Given the description of an element on the screen output the (x, y) to click on. 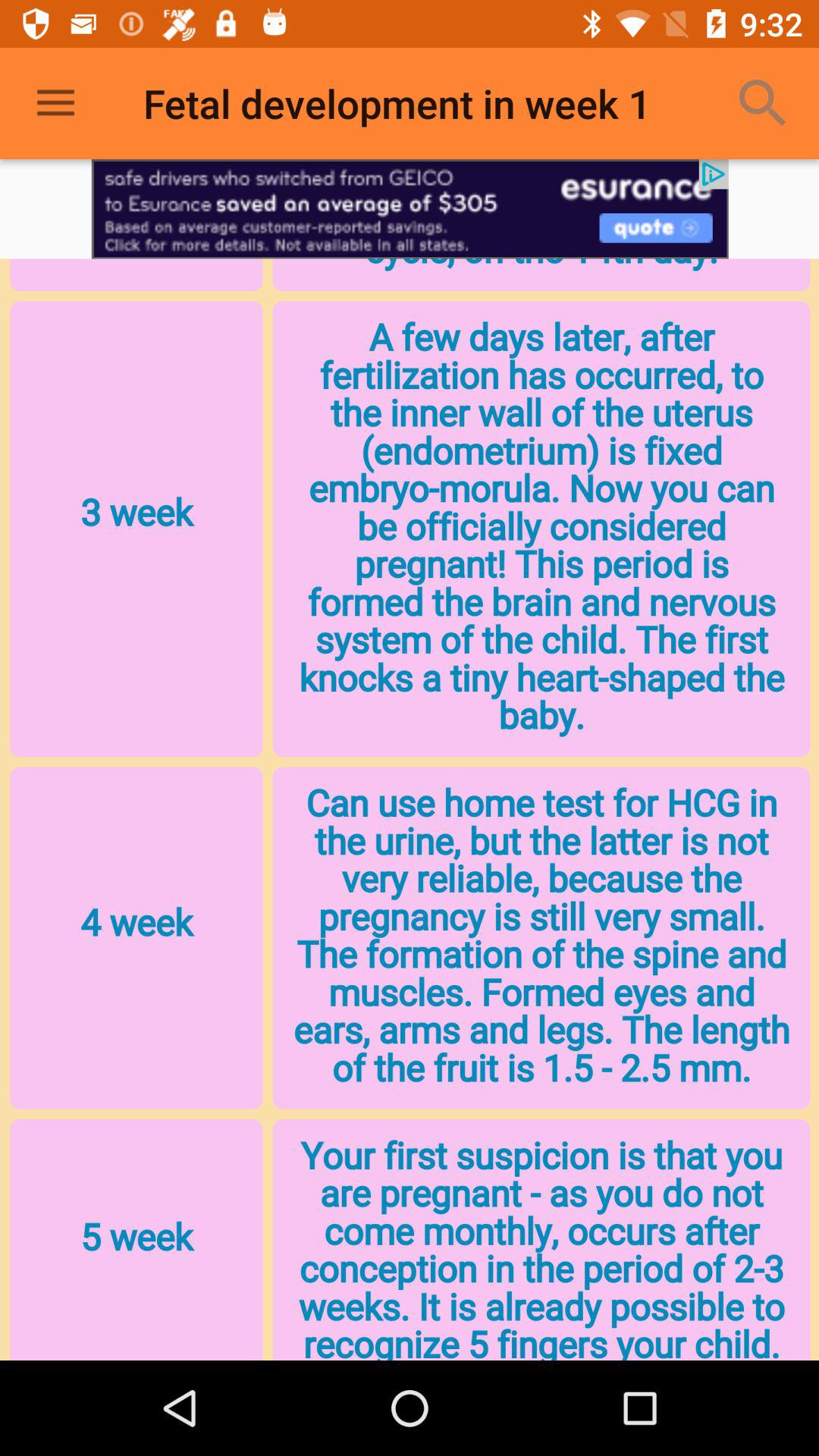
advertisement (409, 208)
